Given the description of an element on the screen output the (x, y) to click on. 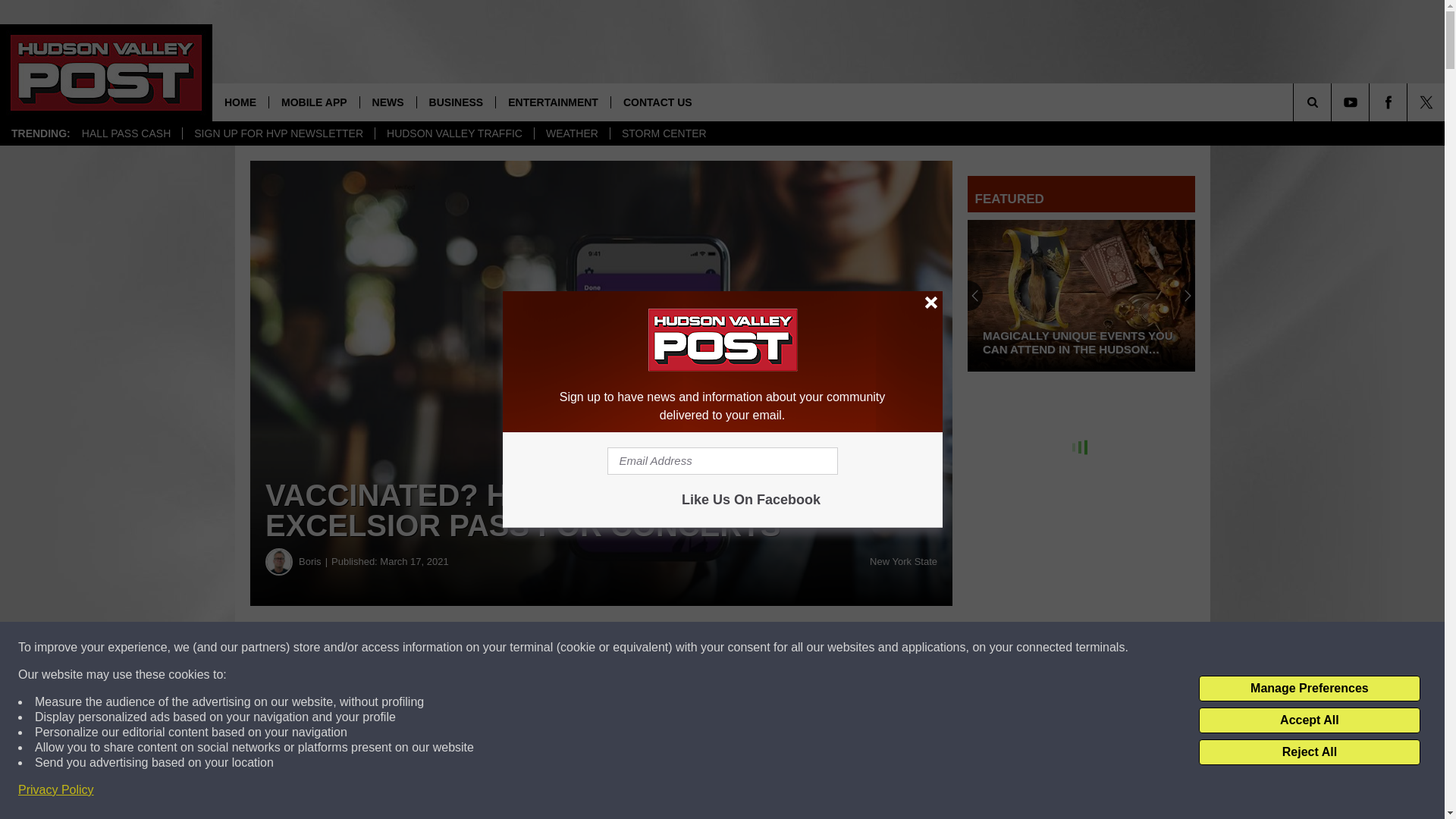
Privacy Policy (55, 789)
Share on Facebook (460, 647)
Email Address (722, 461)
BUSINESS (456, 102)
SEARCH (1333, 102)
Reject All (1309, 751)
CONTACT US (657, 102)
HUDSON VALLEY TRAFFIC (454, 133)
STORM CENTER (663, 133)
Share on Twitter (741, 647)
ENTERTAINMENT (552, 102)
Manage Preferences (1309, 688)
MOBILE APP (313, 102)
Accept All (1309, 720)
HALL PASS CASH (126, 133)
